Given the description of an element on the screen output the (x, y) to click on. 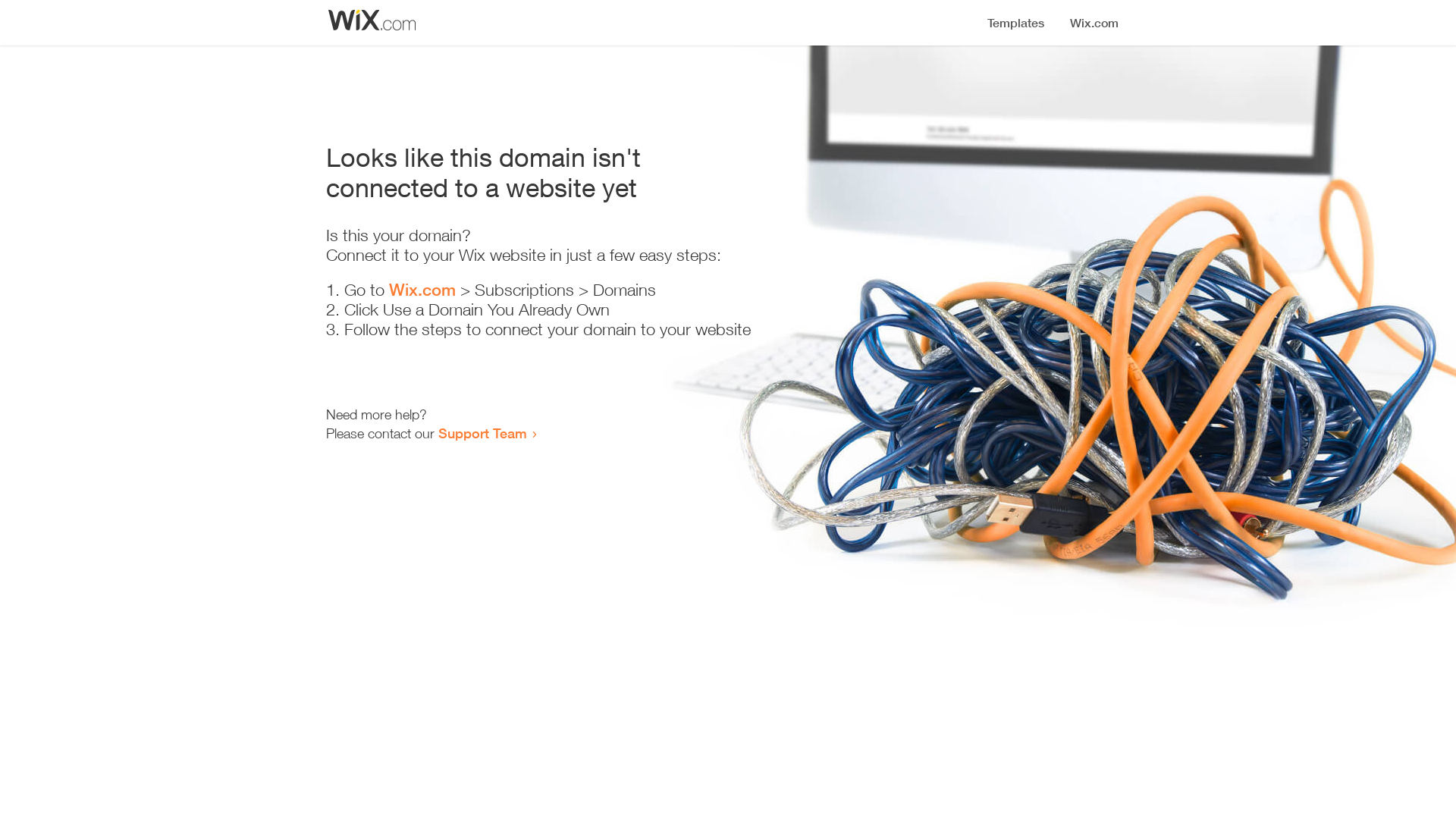
Support Team Element type: text (482, 432)
Wix.com Element type: text (422, 289)
